Given the description of an element on the screen output the (x, y) to click on. 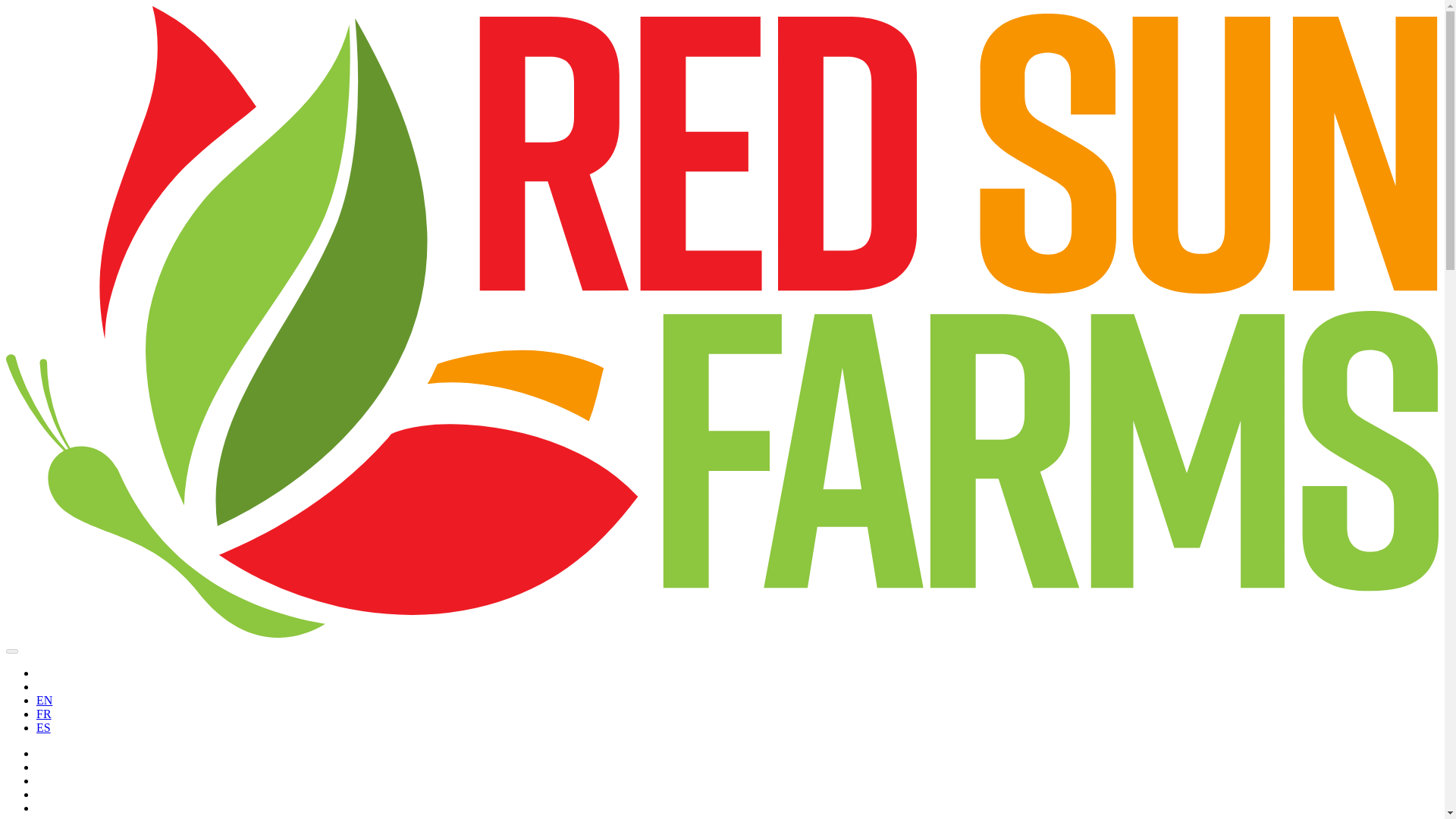
EN (44, 699)
FR (43, 713)
ES (43, 727)
English (44, 699)
Spanish (43, 727)
